Given the description of an element on the screen output the (x, y) to click on. 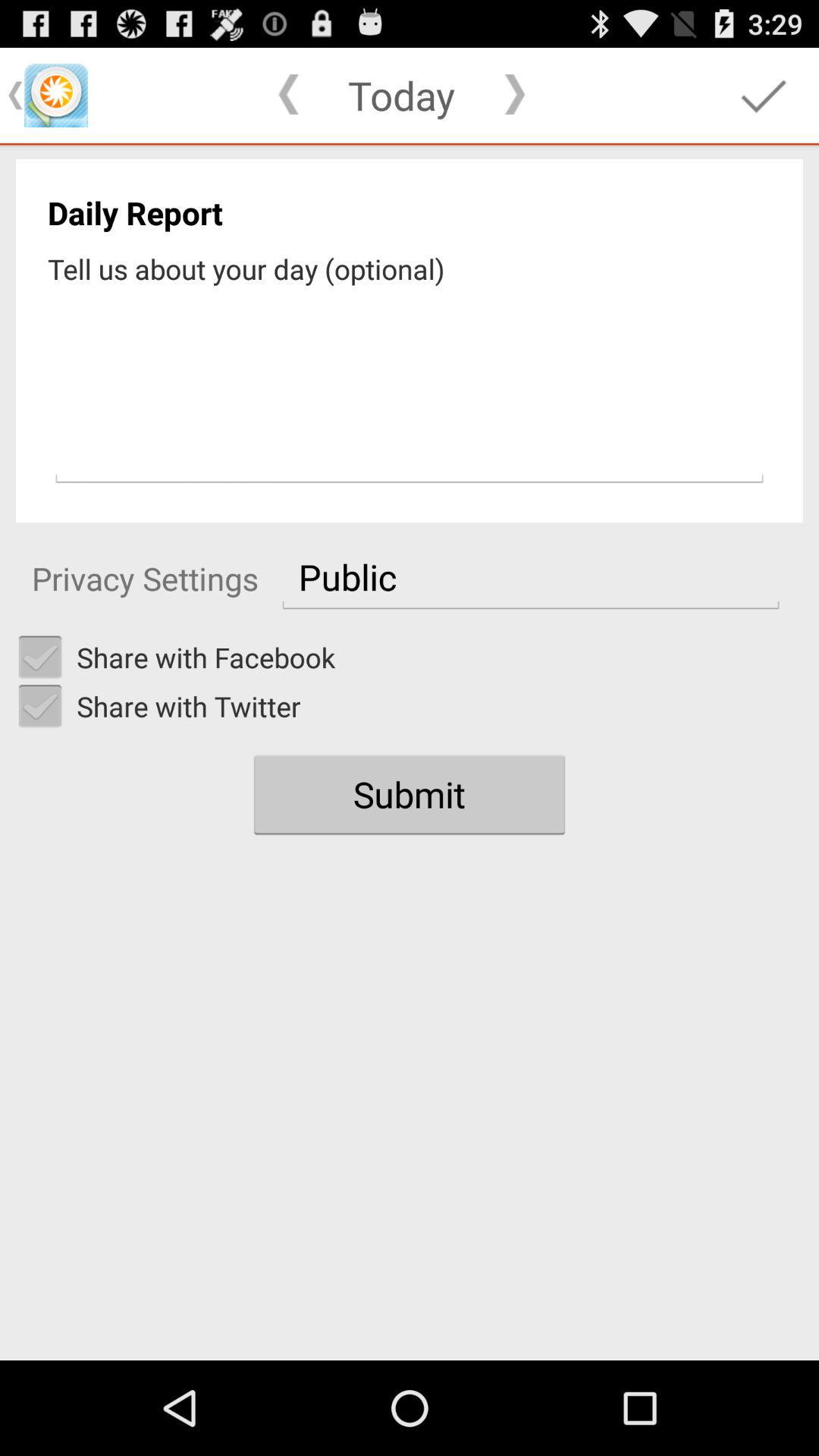
enter daily report (409, 388)
